Given the description of an element on the screen output the (x, y) to click on. 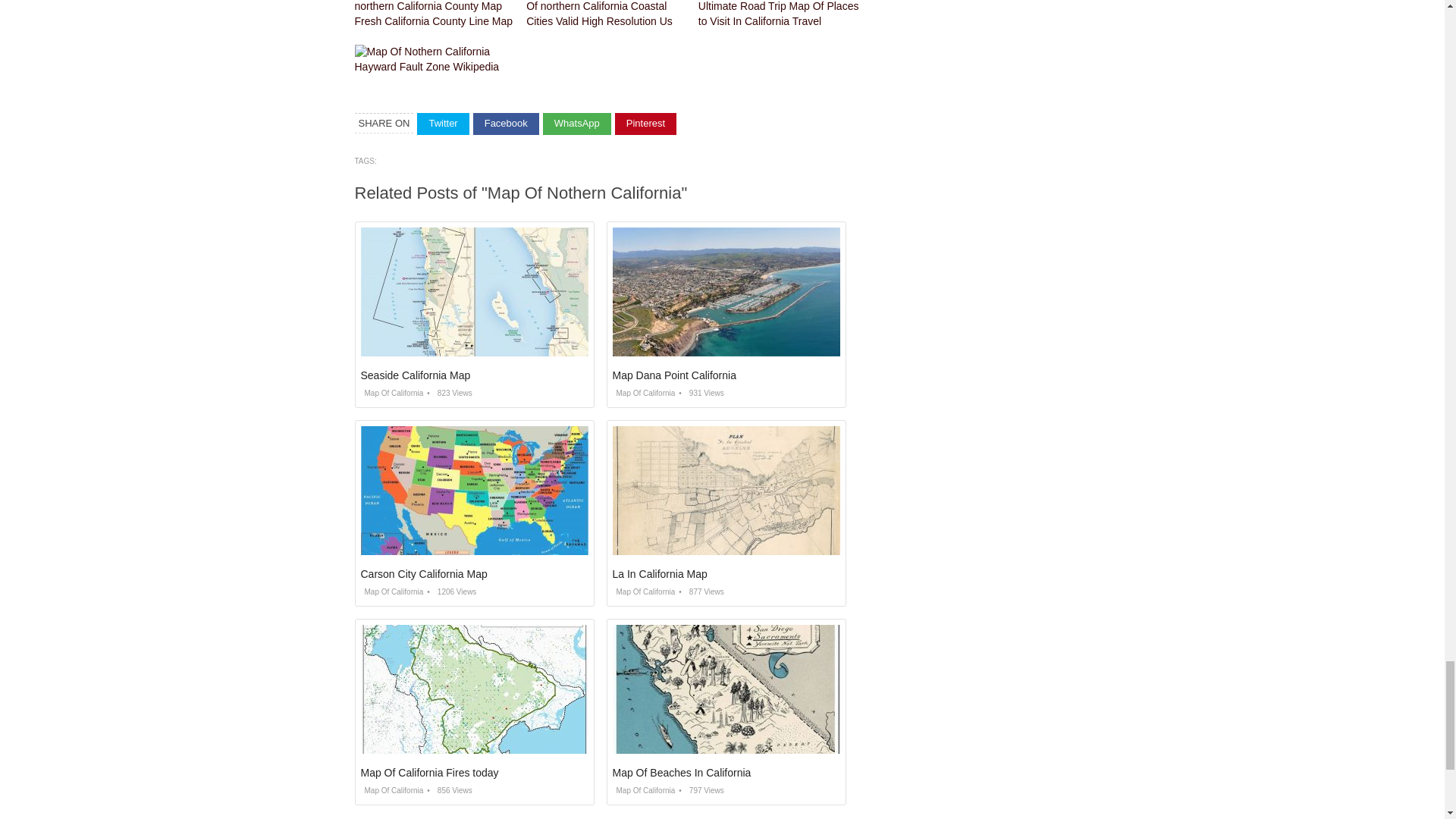
Share on Pinterest (645, 124)
Map Of California Fires today (430, 772)
Share on WhatsApp (577, 124)
Map Of California (392, 592)
Map Of California (643, 592)
WhatsApp (577, 124)
Twitter (442, 124)
Carson City California Map (424, 573)
Share on Twitter (442, 124)
Seaside California Map (415, 375)
Pinterest (645, 124)
Map Of California (392, 393)
